Given the description of an element on the screen output the (x, y) to click on. 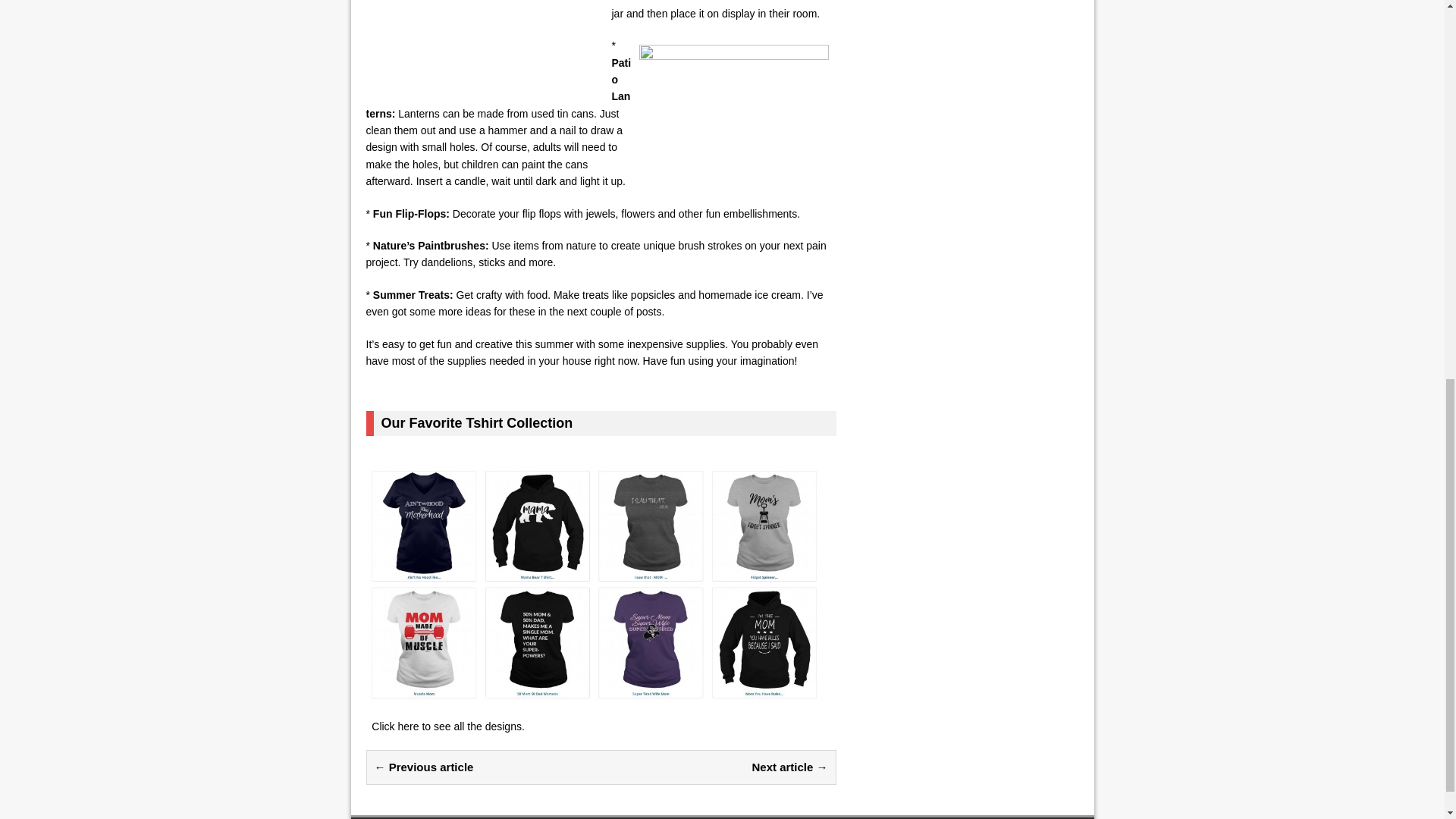
Homemade chalk drawings (733, 118)
Click here to see all the designs (446, 726)
Advertisement (488, 42)
